Given the description of an element on the screen output the (x, y) to click on. 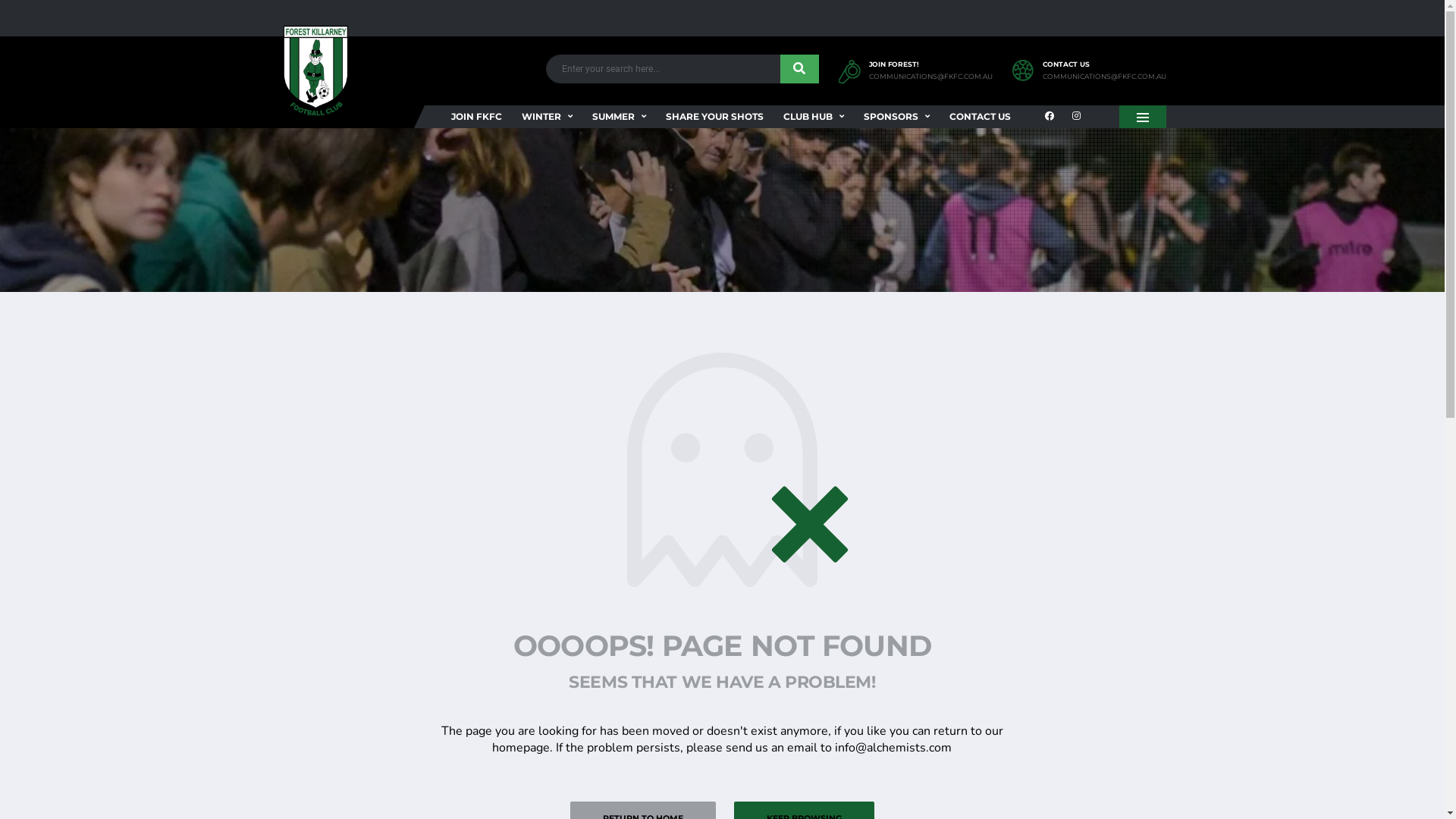
COMMUNICATIONS@FKFC.COM.AU Element type: text (1103, 76)
SPONSORS Element type: text (896, 116)
COMMUNICATIONS@FKFC.COM.AU Element type: text (930, 76)
CONTACT US Element type: text (979, 116)
WINTER Element type: text (546, 116)
JOIN FKFC Element type: text (476, 116)
SUMMER Element type: text (618, 116)
info@alchemists.com Element type: text (892, 747)
SHARE YOUR SHOTS Element type: text (713, 116)
CLUB HUB Element type: text (813, 116)
